Given the description of an element on the screen output the (x, y) to click on. 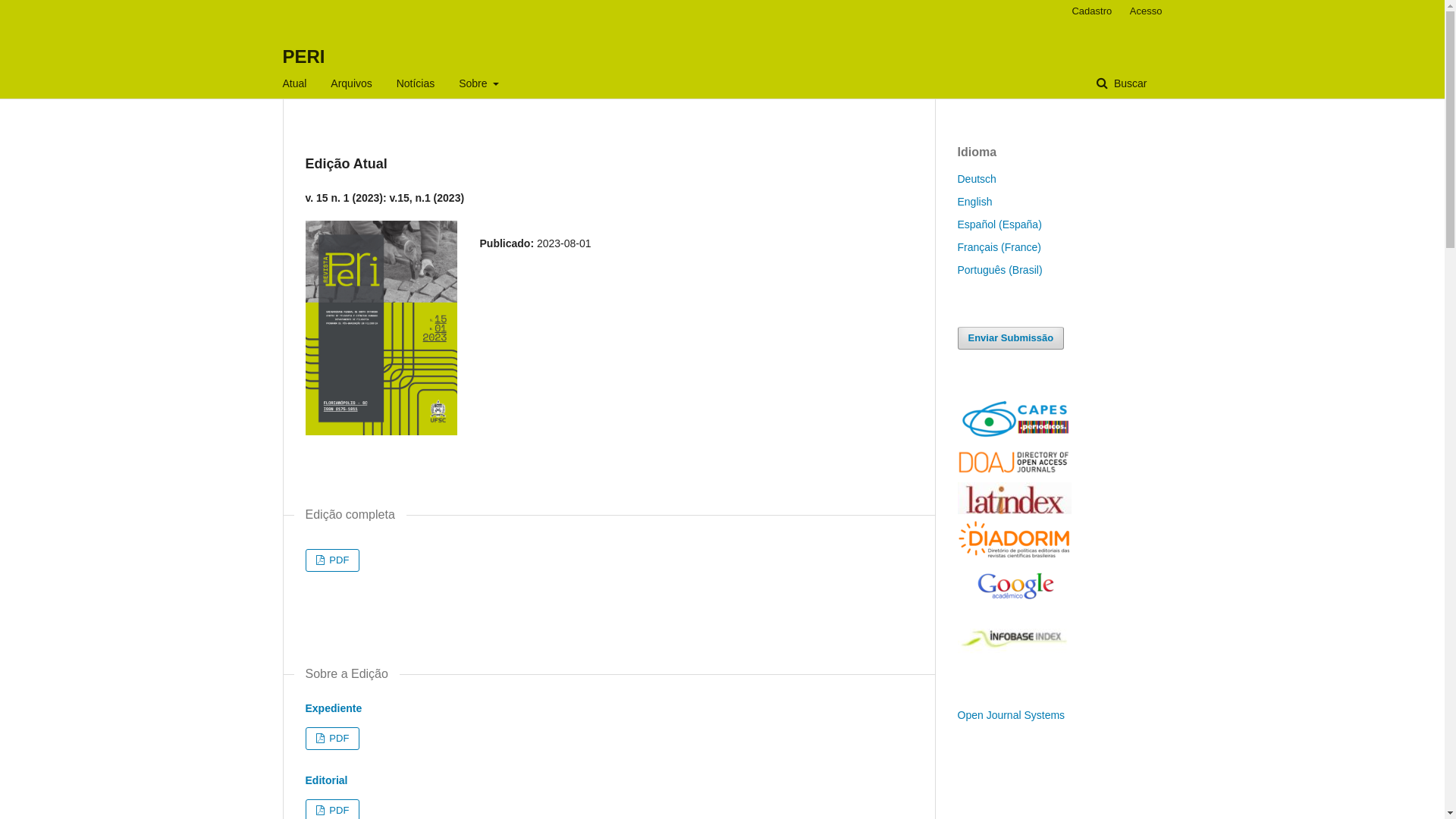
PDF Element type: text (331, 560)
Editorial Element type: text (325, 780)
English Element type: text (974, 201)
Atual Element type: text (294, 83)
Deutsch Element type: text (976, 178)
Open Journal Systems Element type: text (1010, 715)
Expediente Element type: text (332, 708)
PERI Element type: text (303, 56)
Cadastro Element type: text (1091, 11)
Sobre Element type: text (478, 83)
Acesso Element type: text (1142, 11)
Arquivos Element type: text (350, 83)
PDF Element type: text (331, 738)
Buscar Element type: text (1121, 83)
